Given the description of an element on the screen output the (x, y) to click on. 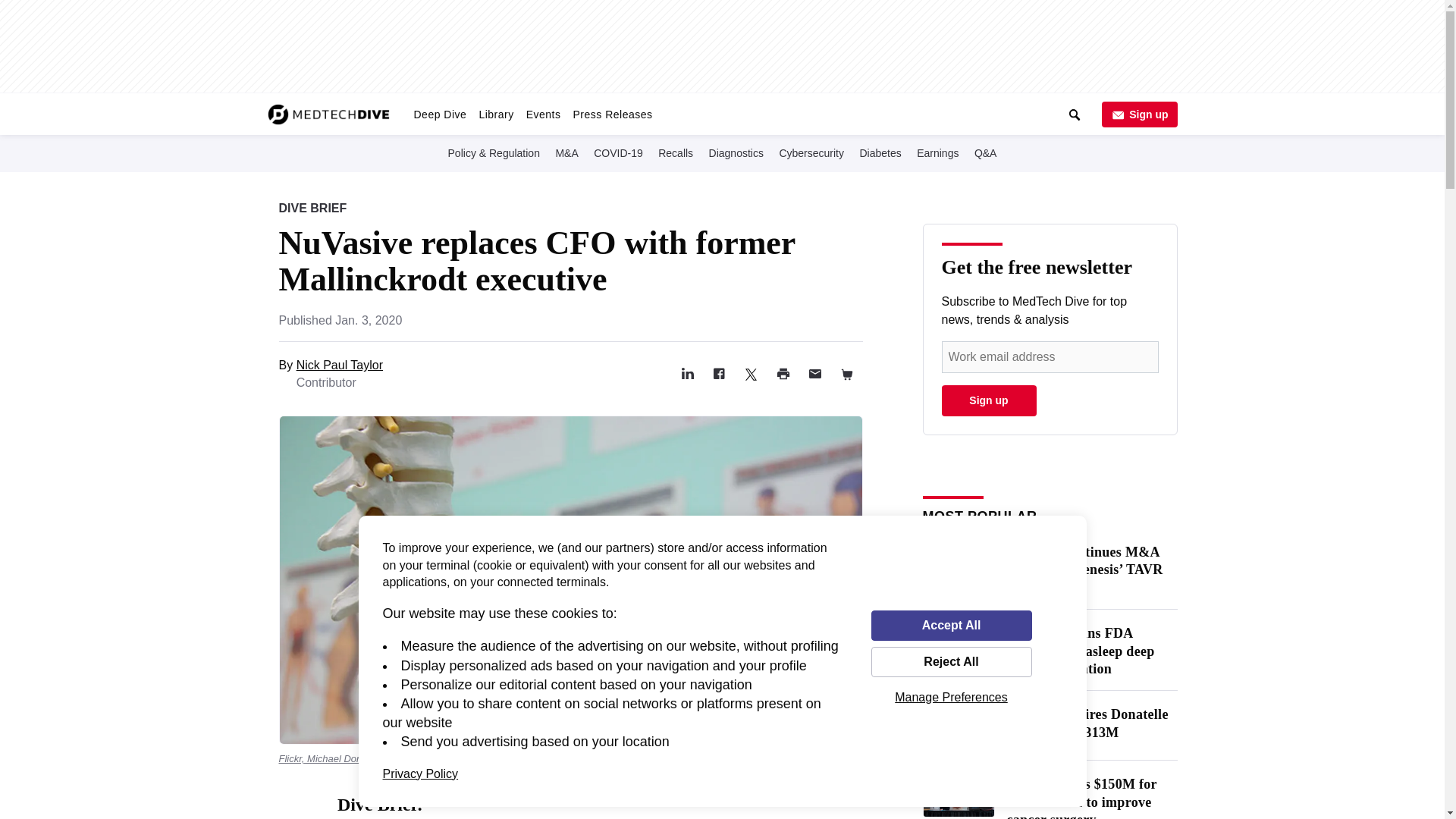
Nick Paul Taylor (339, 364)
Earnings (937, 152)
Manage Preferences (950, 697)
Flickr, Michael Dorausch (333, 758)
Diabetes (880, 152)
Recalls (675, 152)
Deep Dive (440, 114)
COVID-19 (618, 152)
Press Releases (612, 114)
Cybersecurity (811, 152)
